Given the description of an element on the screen output the (x, y) to click on. 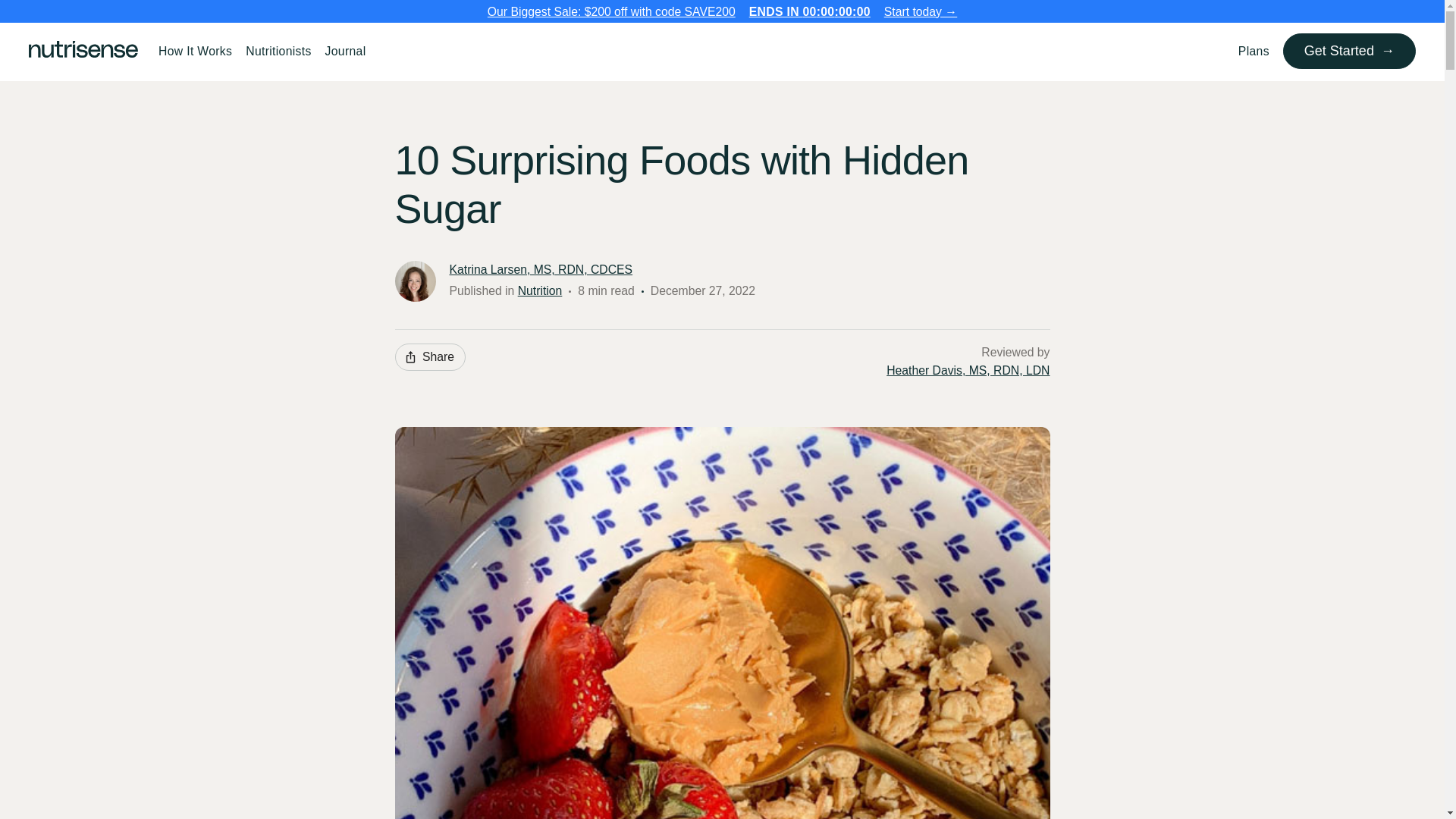
Nutrition (540, 290)
Nutritionists (277, 51)
Plans (1253, 51)
Heather Davis, MS, RDN, LDN (967, 370)
How It Works (194, 51)
Katrina Larsen, MS, RDN, CDCES (539, 270)
Journal (345, 51)
Get Started (1348, 50)
